Given the description of an element on the screen output the (x, y) to click on. 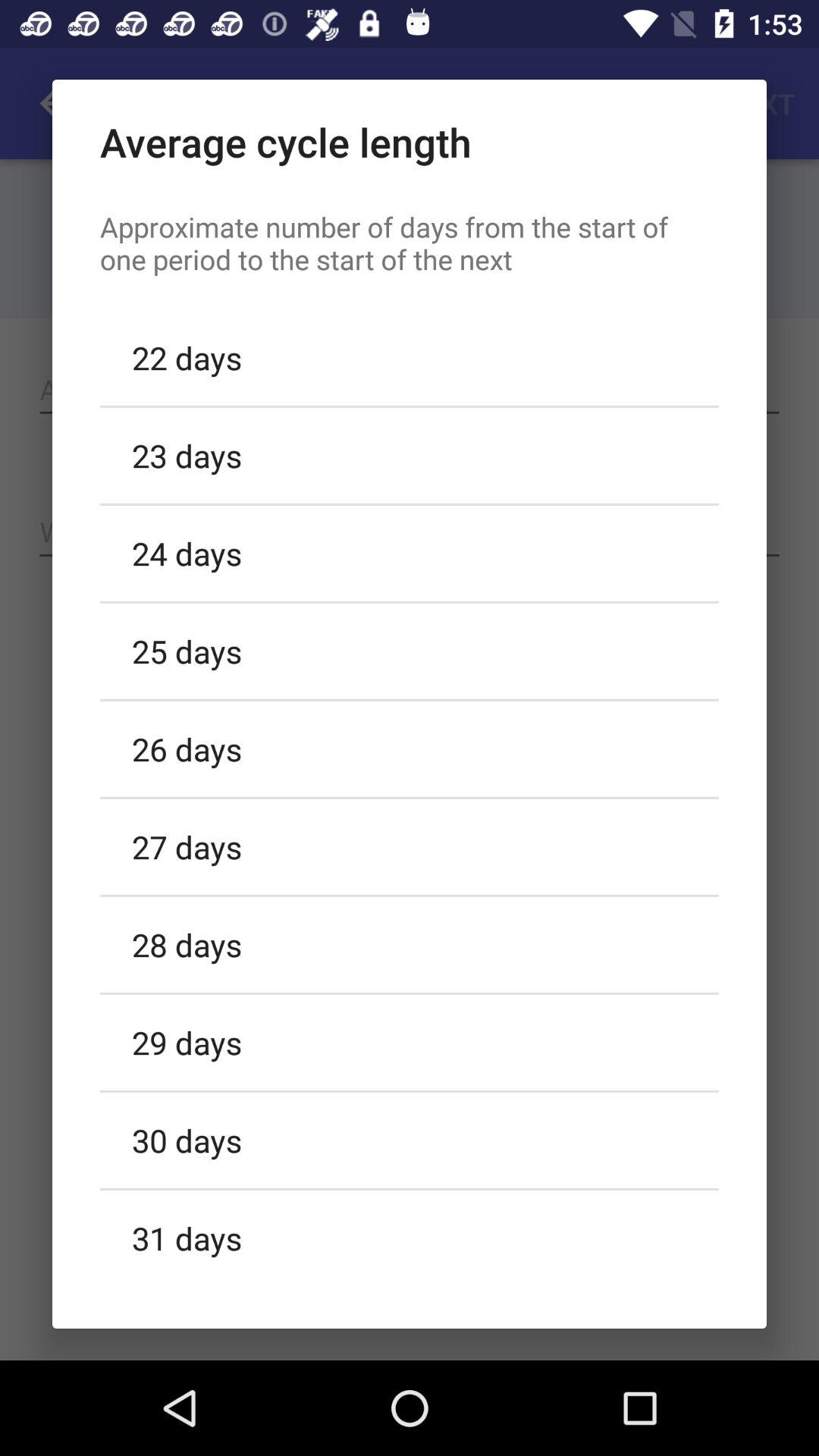
launch 27 days (409, 846)
